Given the description of an element on the screen output the (x, y) to click on. 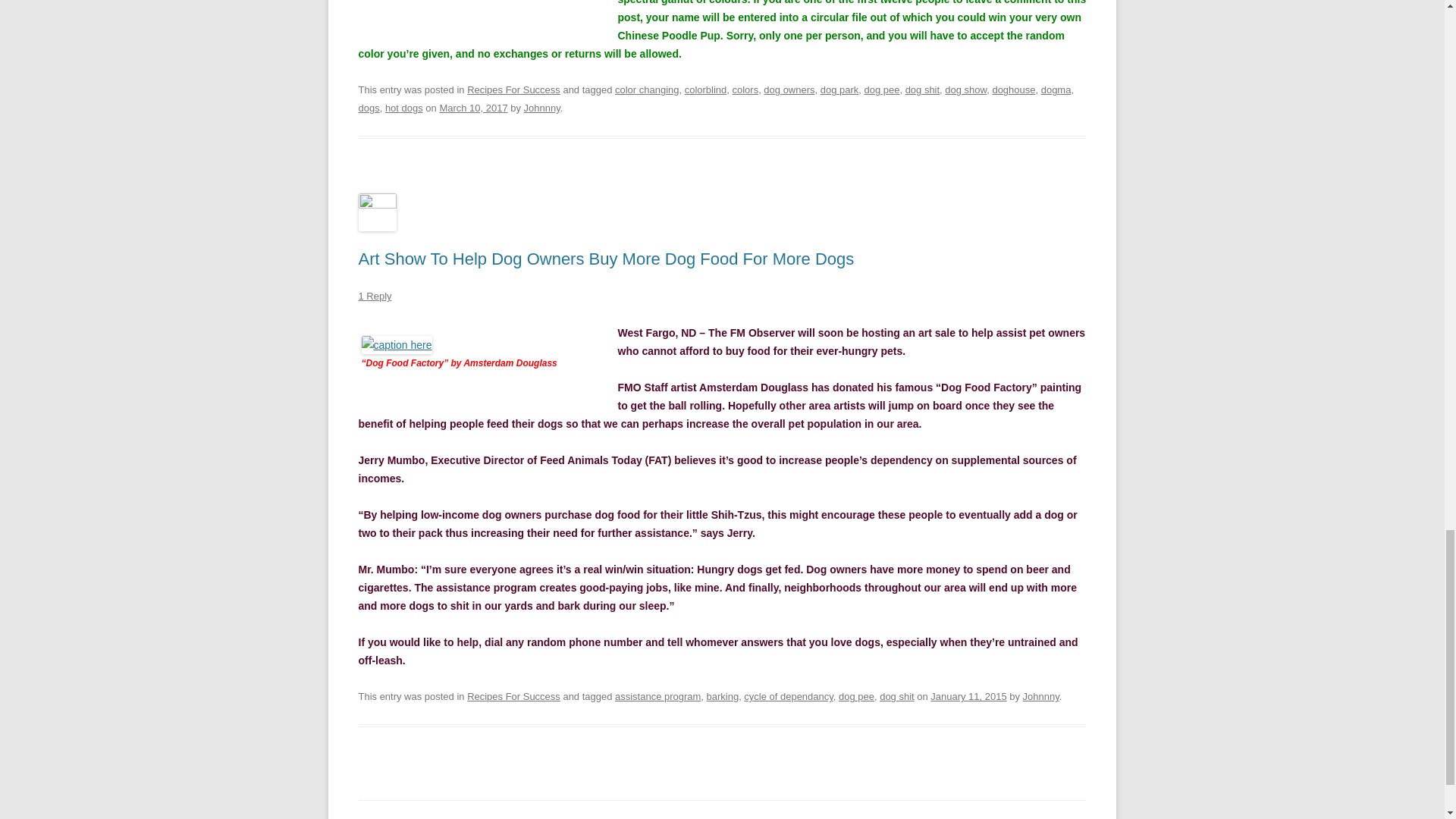
View all posts by Johnnny (542, 107)
View all posts by Johnnny (1041, 696)
6:57 AM (472, 107)
10:14 AM (968, 696)
